Given the description of an element on the screen output the (x, y) to click on. 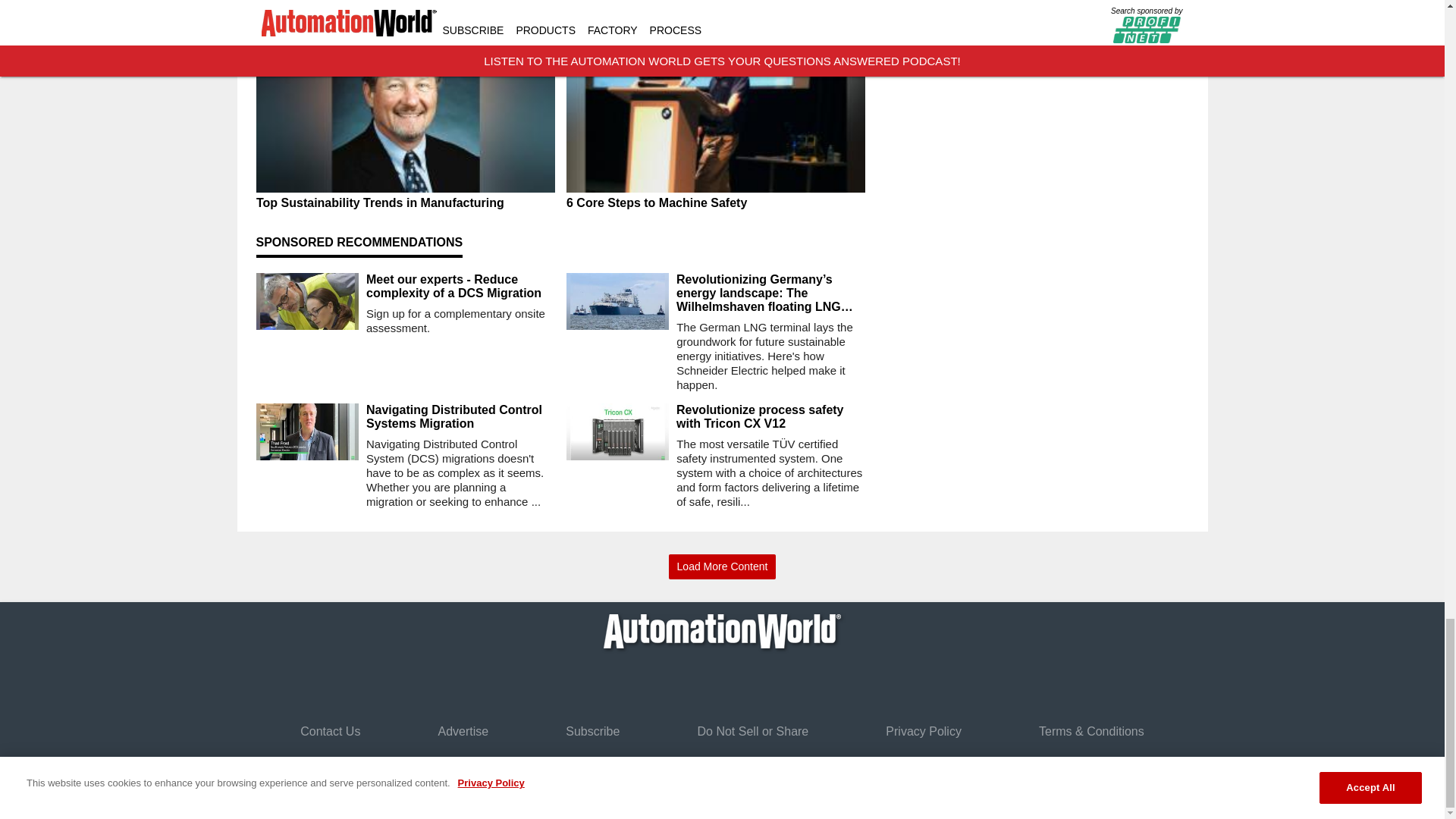
Top Sustainability Trends in Manufacturing (405, 202)
6 Core Steps to Machine Safety (715, 202)
Meet our experts - Reduce complexity of a DCS Migration (459, 286)
Navigating Distributed Control Systems Migration (459, 416)
Revolutionize process safety with Tricon CX V12 (770, 416)
